Given the description of an element on the screen output the (x, y) to click on. 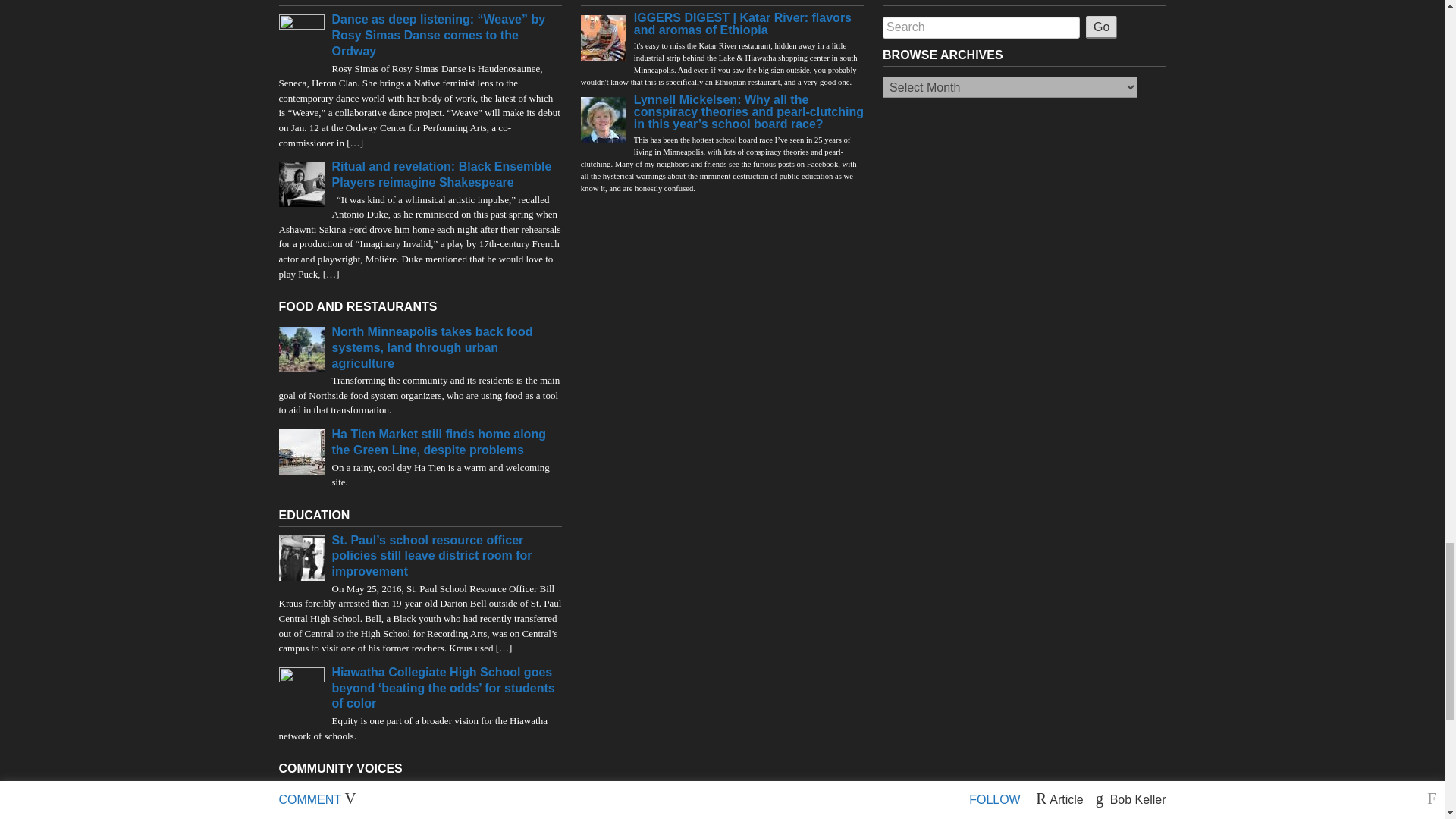
Go (1101, 26)
Go (1101, 26)
